Given the description of an element on the screen output the (x, y) to click on. 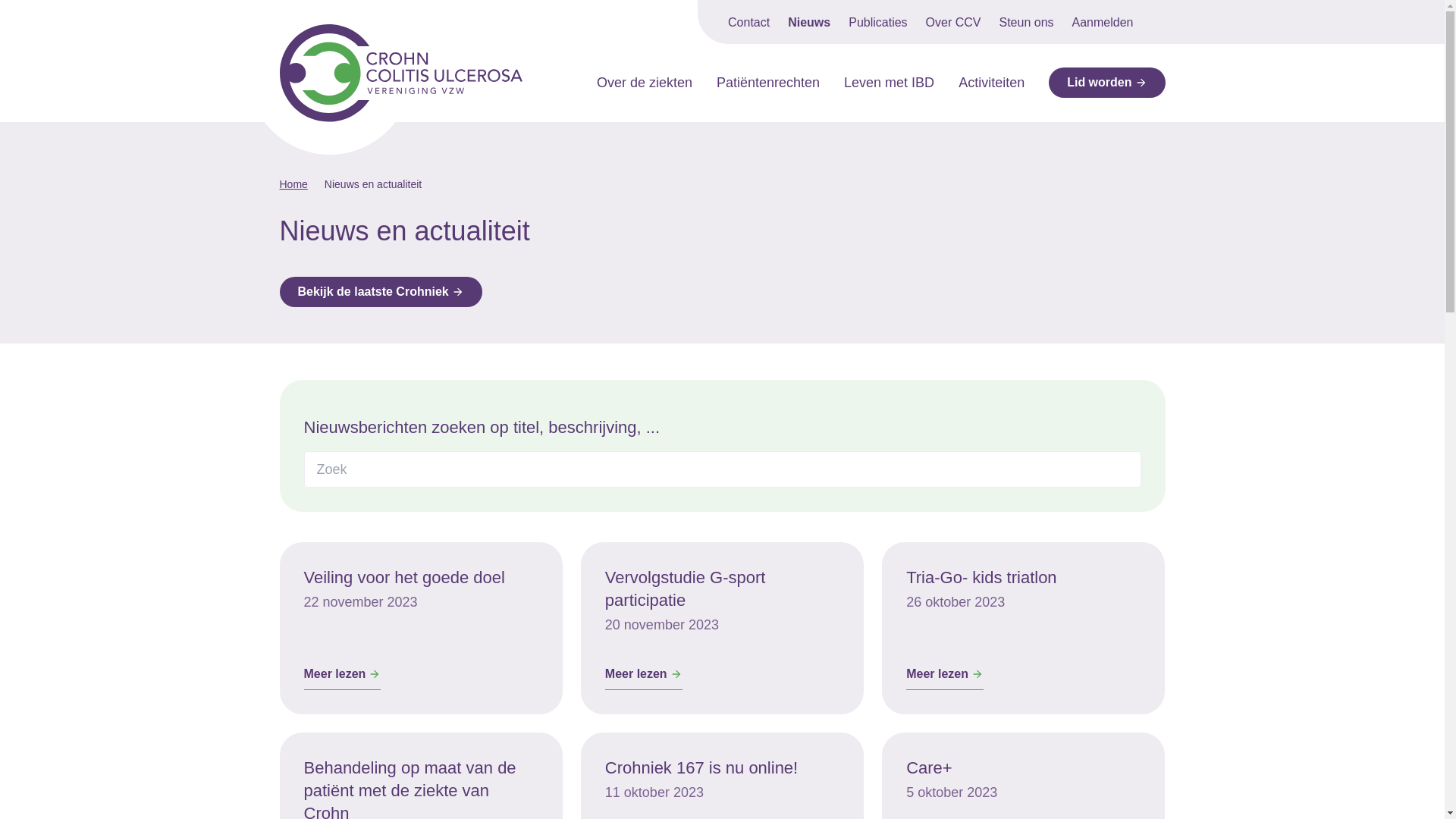
Publicaties Element type: text (877, 21)
Vervolgstudie G-sport participatie Element type: text (685, 588)
Aanmelden Element type: text (1102, 21)
Nieuws Element type: text (808, 21)
Zoek Element type: text (1119, 469)
Steun ons Element type: text (1025, 21)
Lid worden Element type: text (1106, 82)
Activiteiten Element type: text (991, 83)
Veiling voor het goede doel Element type: text (403, 576)
Over CCV Element type: text (953, 21)
Care+ Element type: text (929, 767)
Bekijk de laatste Crohniek Element type: text (380, 291)
Contact Element type: text (748, 21)
Leven met IBD Element type: text (889, 83)
Nieuws en actualiteit Element type: text (372, 183)
Zoeken Element type: text (1157, 21)
Over de ziekten Element type: text (644, 83)
Tria-Go- kids triatlon Element type: text (981, 576)
Home Element type: text (293, 183)
Crohniek 167 is nu online! Element type: text (701, 767)
